Given the description of an element on the screen output the (x, y) to click on. 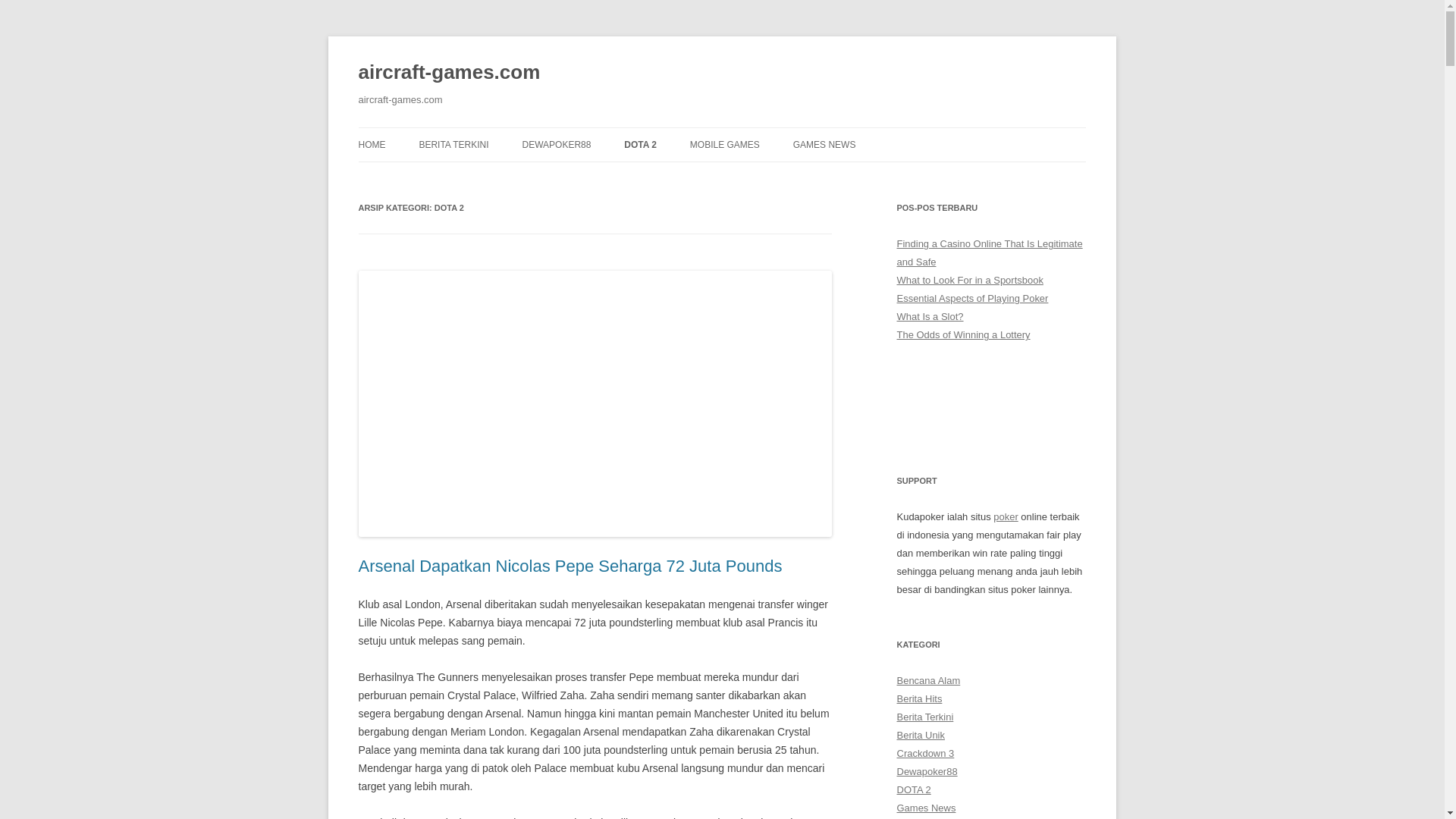
aircraft-games.com (449, 72)
BERITA TERKINI (453, 144)
DEWAPOKER88 (556, 144)
HOME (371, 144)
GAMES NEWS (824, 144)
DOTA 2 (640, 144)
Arsenal Dapatkan Nicolas Pepe Seharga 72 Juta Pounds (569, 565)
MOBILE GAMES (725, 144)
